Given the description of an element on the screen output the (x, y) to click on. 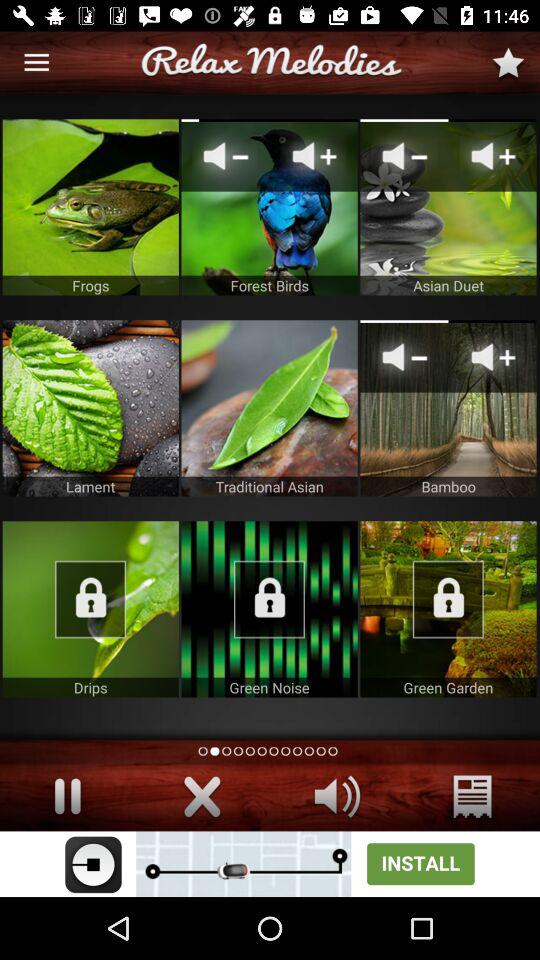
close button (202, 796)
